Given the description of an element on the screen output the (x, y) to click on. 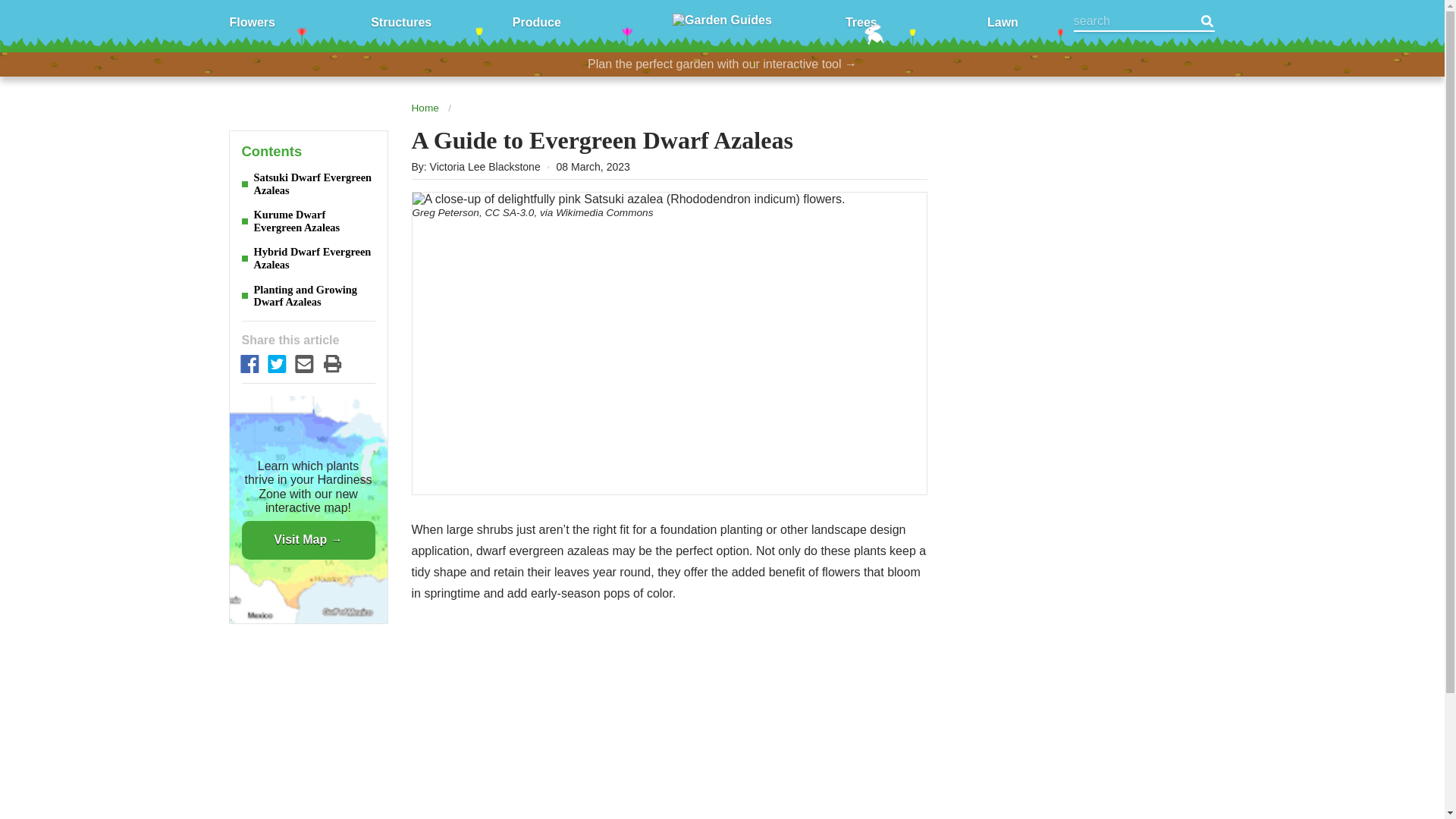
Trees (861, 21)
Flowers (251, 21)
Kurume Dwarf Evergreen Azaleas (307, 220)
Hybrid Dwarf Evergreen Azaleas (307, 258)
Lawn (1002, 21)
Home (424, 107)
Satsuki Dwarf Evergreen Azaleas (307, 183)
Produce (536, 21)
Planting and Growing Dwarf Azaleas (307, 295)
Structures (400, 21)
